Given the description of an element on the screen output the (x, y) to click on. 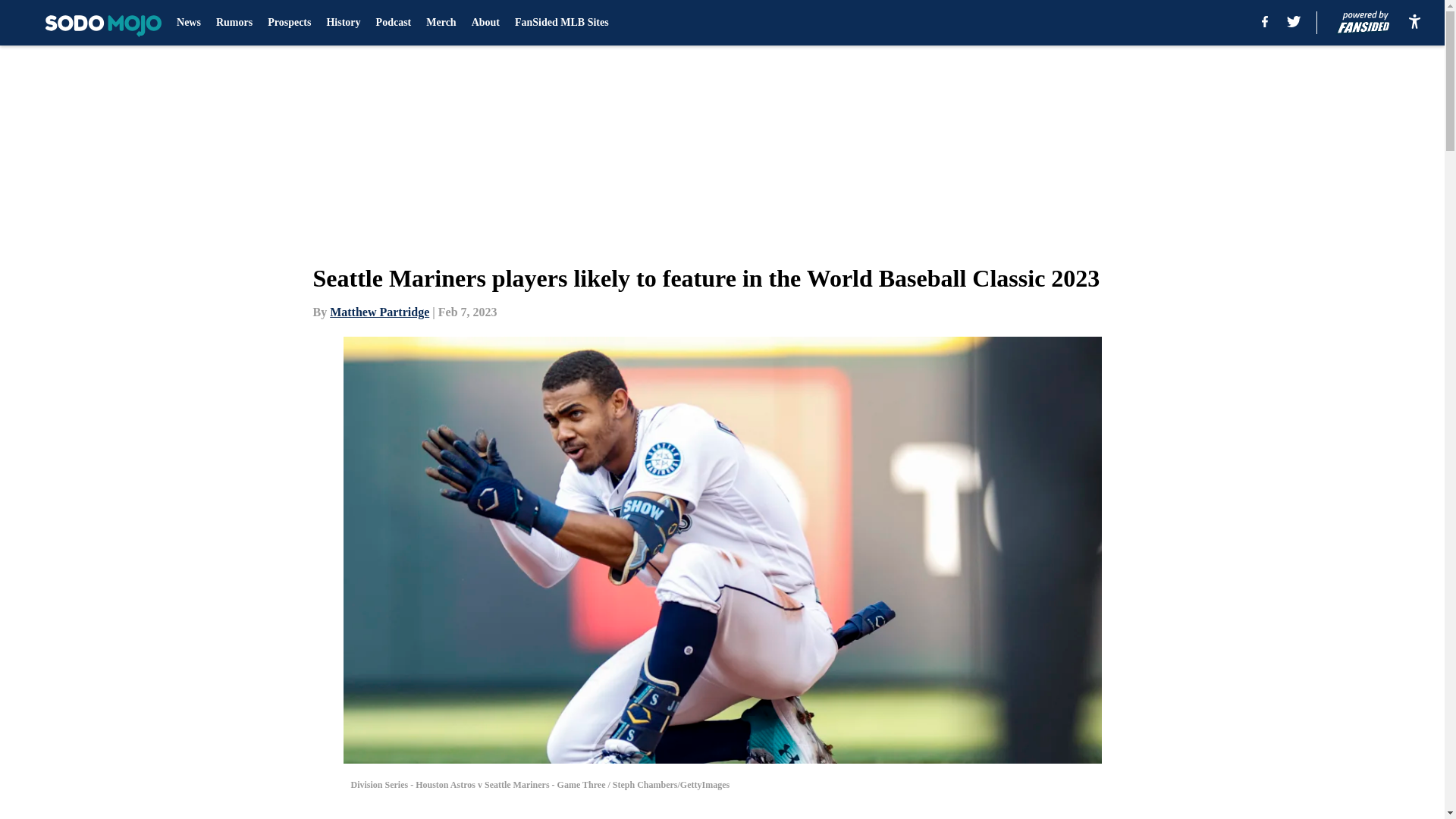
Matthew Partridge (379, 311)
News (188, 22)
Podcast (393, 22)
History (342, 22)
About (485, 22)
Prospects (289, 22)
Merch (440, 22)
Rumors (233, 22)
FanSided MLB Sites (561, 22)
